Given the description of an element on the screen output the (x, y) to click on. 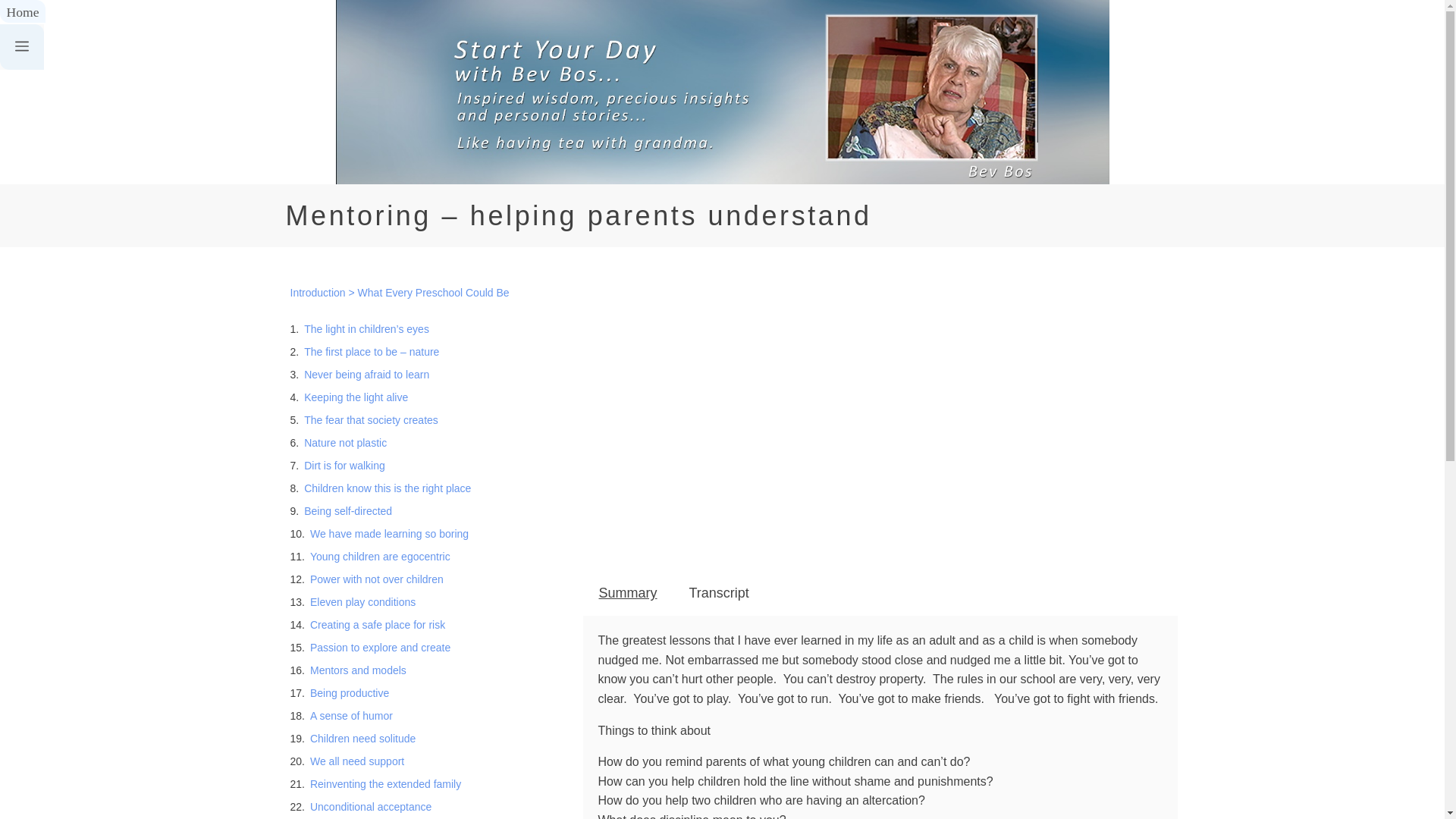
Creating a safe place for risk (377, 624)
Nature not plastic (345, 442)
Mentors and models (358, 670)
Unconditional acceptance (370, 806)
Children need solitude (362, 738)
Children know this is the right place (387, 488)
Power with not over children (377, 579)
The fear that society creates (371, 419)
Being self-directed (347, 511)
We have made learning so boring (389, 533)
Insight 35: Mentoring - helping parents understand (879, 413)
Passion to explore and create (379, 647)
MENU (21, 46)
Keeping the light alive (355, 397)
